Given the description of an element on the screen output the (x, y) to click on. 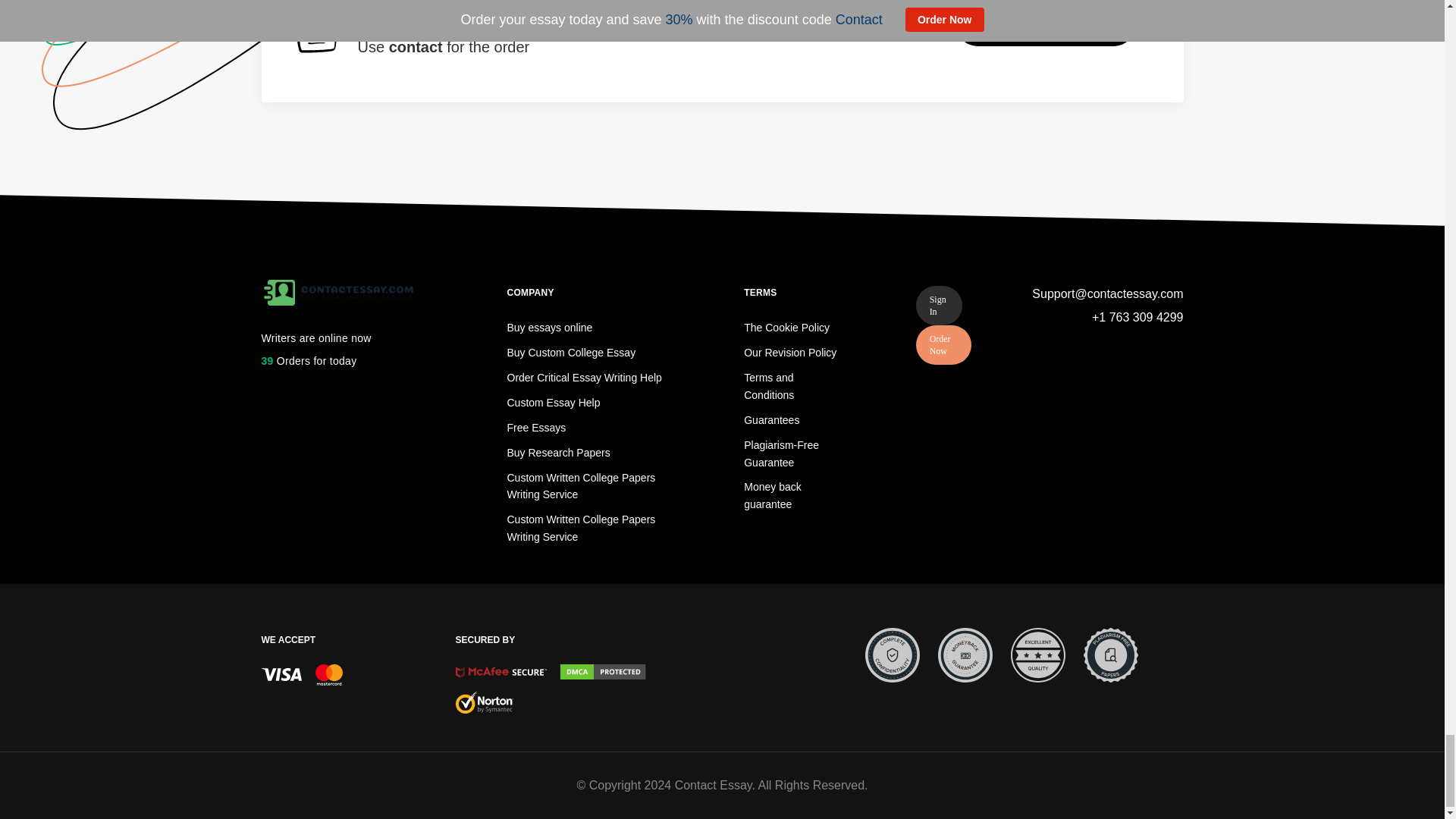
Custom Written College Papers Writing Service (580, 527)
Buy essays online (549, 327)
Buy Research Papers (558, 452)
Our Revision Policy (789, 352)
Write my paper (1045, 24)
Buy Custom College Essay (570, 352)
The Cookie Policy (786, 327)
Custom Essay Help (552, 402)
Guarantees (771, 419)
Order Critical Essay Writing Help (583, 377)
